Given the description of an element on the screen output the (x, y) to click on. 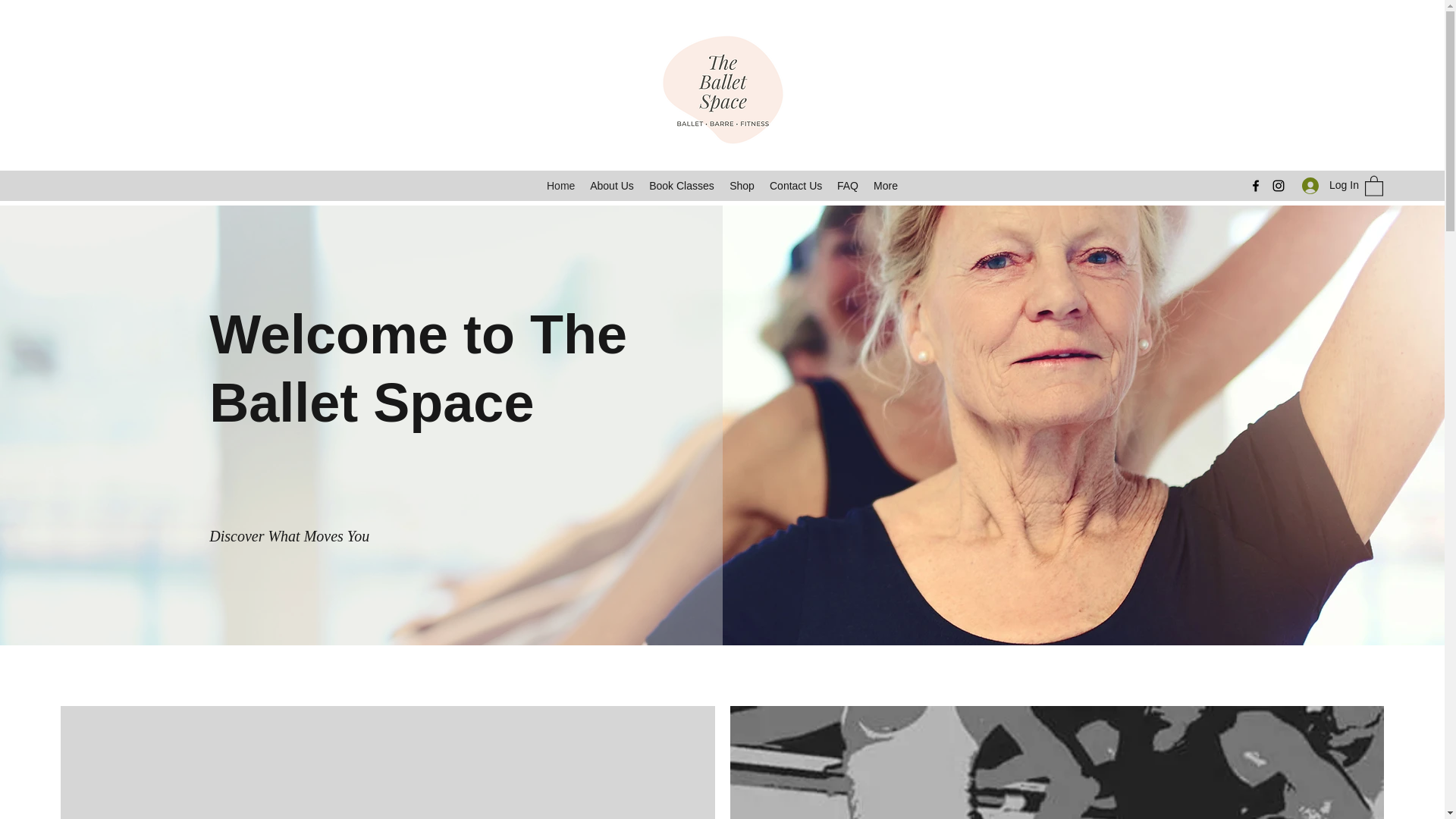
Log In (1325, 185)
Shop (741, 185)
About Us (612, 185)
FAQ (847, 185)
Book Classes (682, 185)
Contact Us (795, 185)
Home (560, 185)
